Given the description of an element on the screen output the (x, y) to click on. 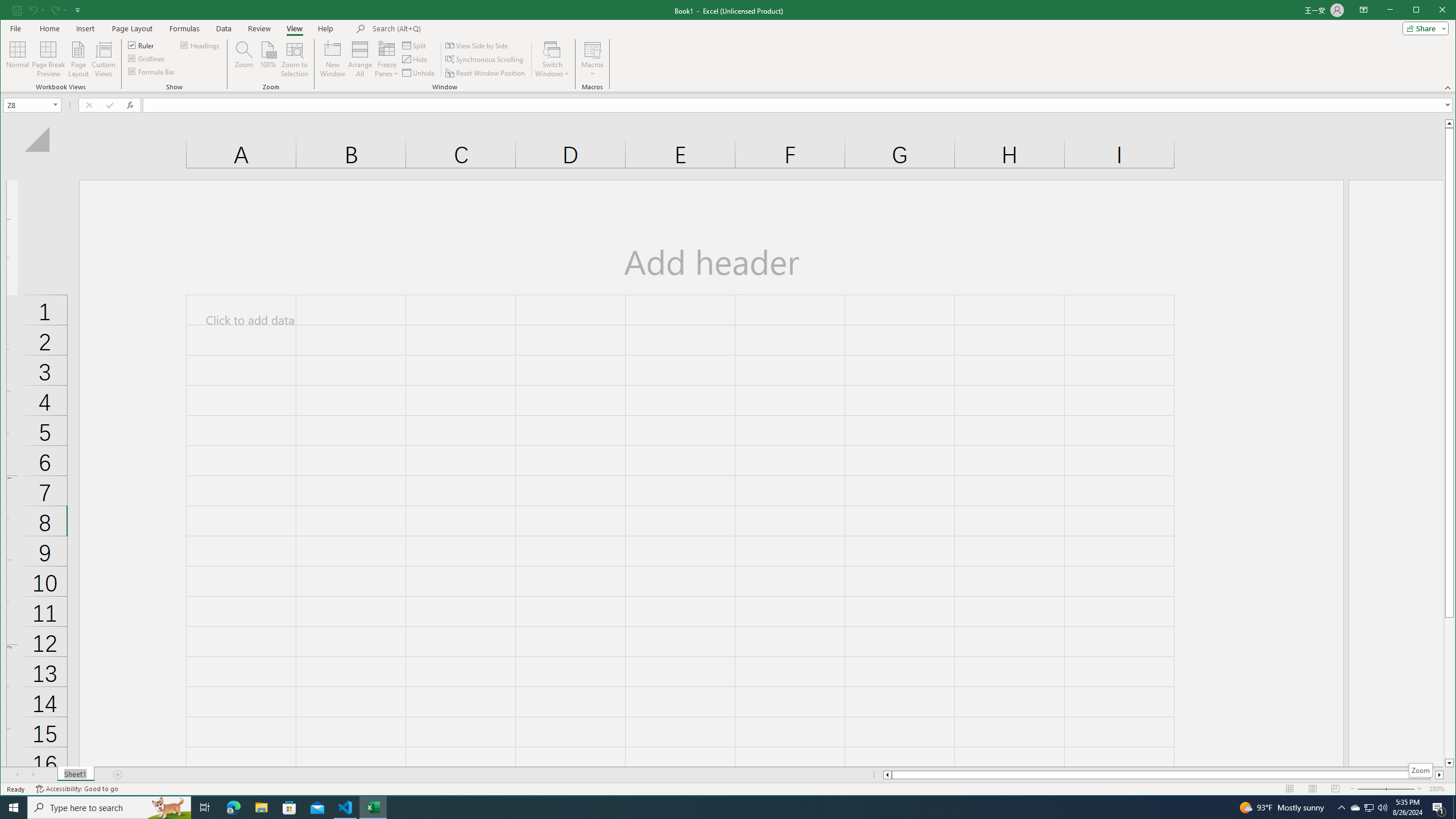
View Macros (592, 48)
System (1355, 807)
Maximize (10, 10)
Microsoft Store (1432, 11)
Formula Bar (289, 807)
Reset Window Position (152, 70)
Microsoft search (486, 72)
Show desktop (451, 28)
Help (1454, 807)
Add Sheet (325, 28)
Accessibility Checker Accessibility: Good to go (118, 774)
Line up (76, 788)
Home (1449, 122)
